Given the description of an element on the screen output the (x, y) to click on. 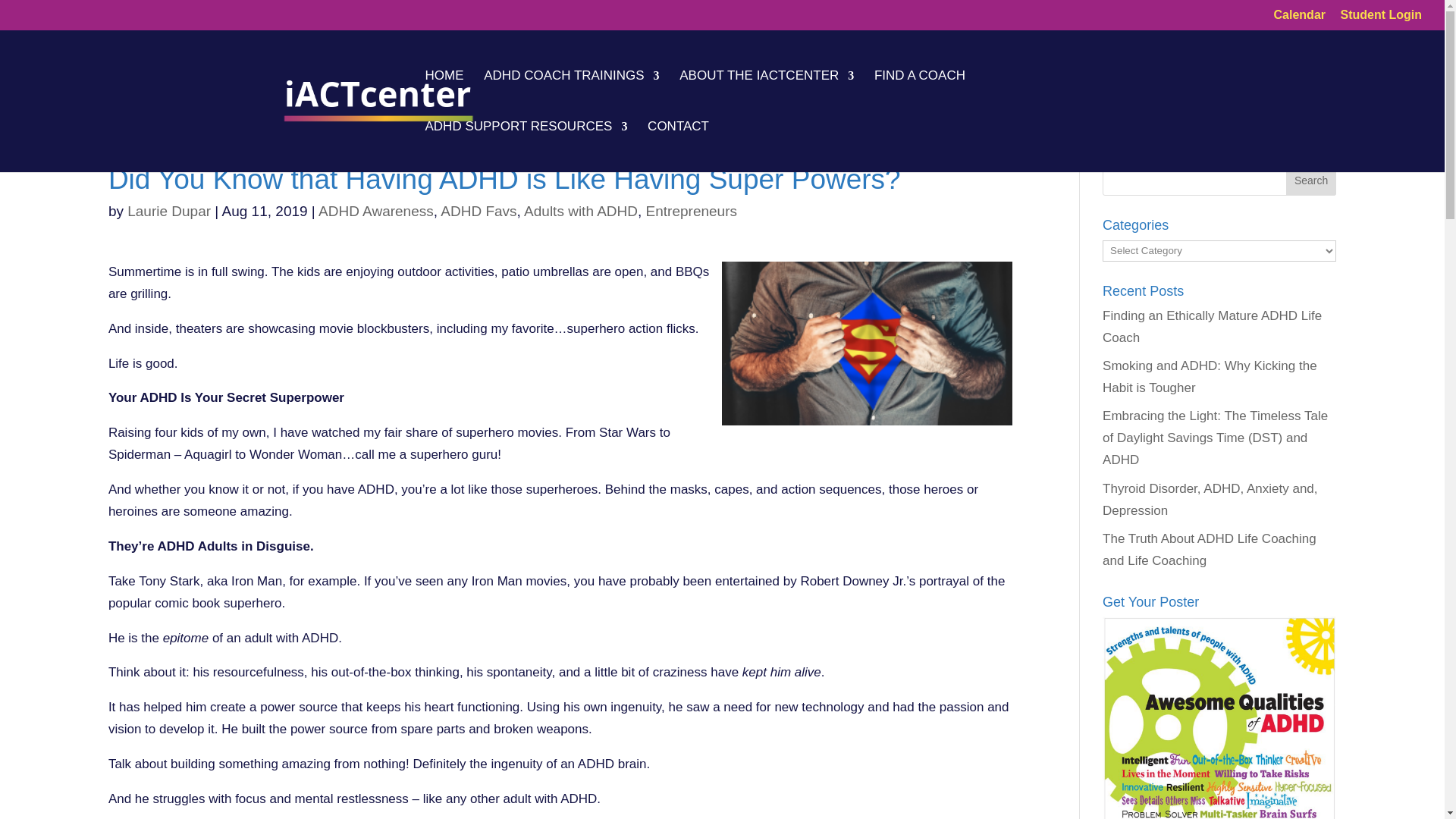
Posts by Laurie Dupar (169, 211)
Student Login (1380, 19)
ABOUT THE IACTCENTER (766, 95)
FIND A COACH (920, 95)
ADHD SUPPORT RESOURCES (526, 146)
Laurie Dupar (169, 211)
ADHD COACH TRAININGS (571, 95)
Calendar (1299, 19)
CONTACT (678, 146)
Get Your Poster (1219, 717)
Search (1310, 180)
